Given the description of an element on the screen output the (x, y) to click on. 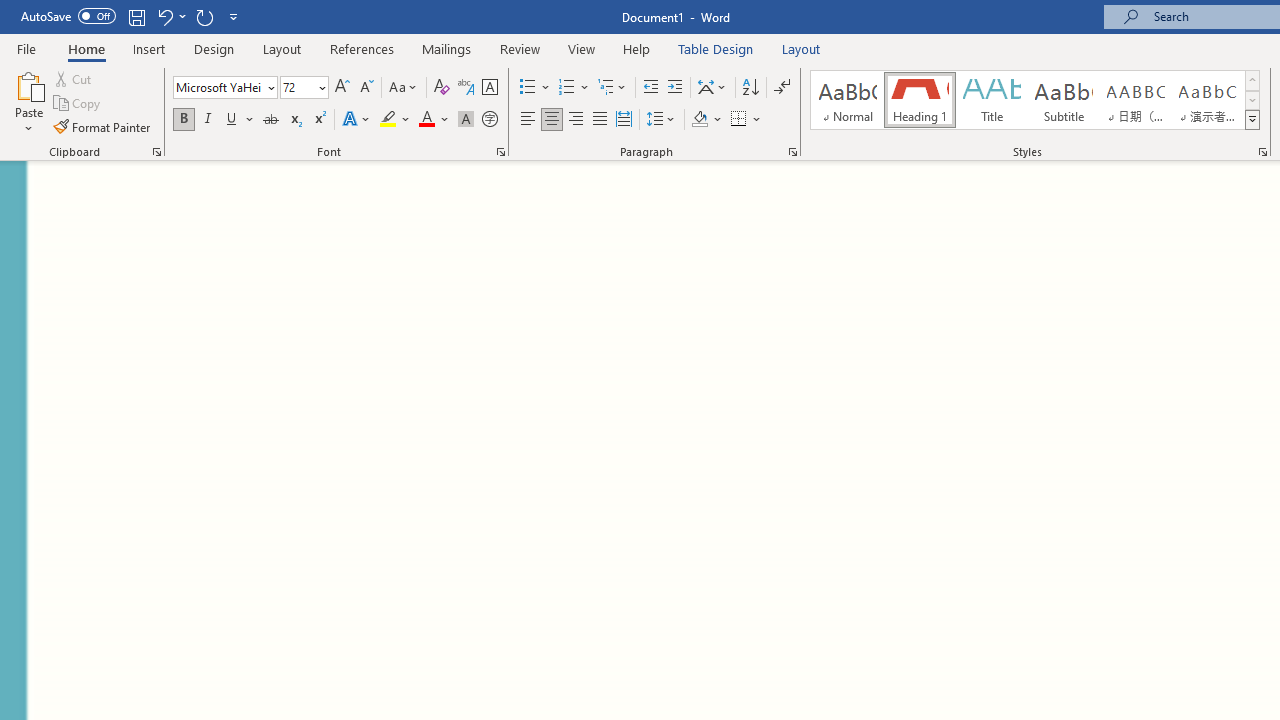
Font Color (434, 119)
System (10, 11)
AutomationID: QuickStylesGallery (1035, 99)
Text Effects and Typography (357, 119)
Styles (1252, 120)
Font Size (297, 87)
Font (218, 87)
Open (320, 87)
System (10, 11)
Title (991, 100)
More Options (757, 119)
AutoSave (68, 16)
Quick Access Toolbar (131, 16)
Styles... (1262, 151)
Cut (73, 78)
